Given the description of an element on the screen output the (x, y) to click on. 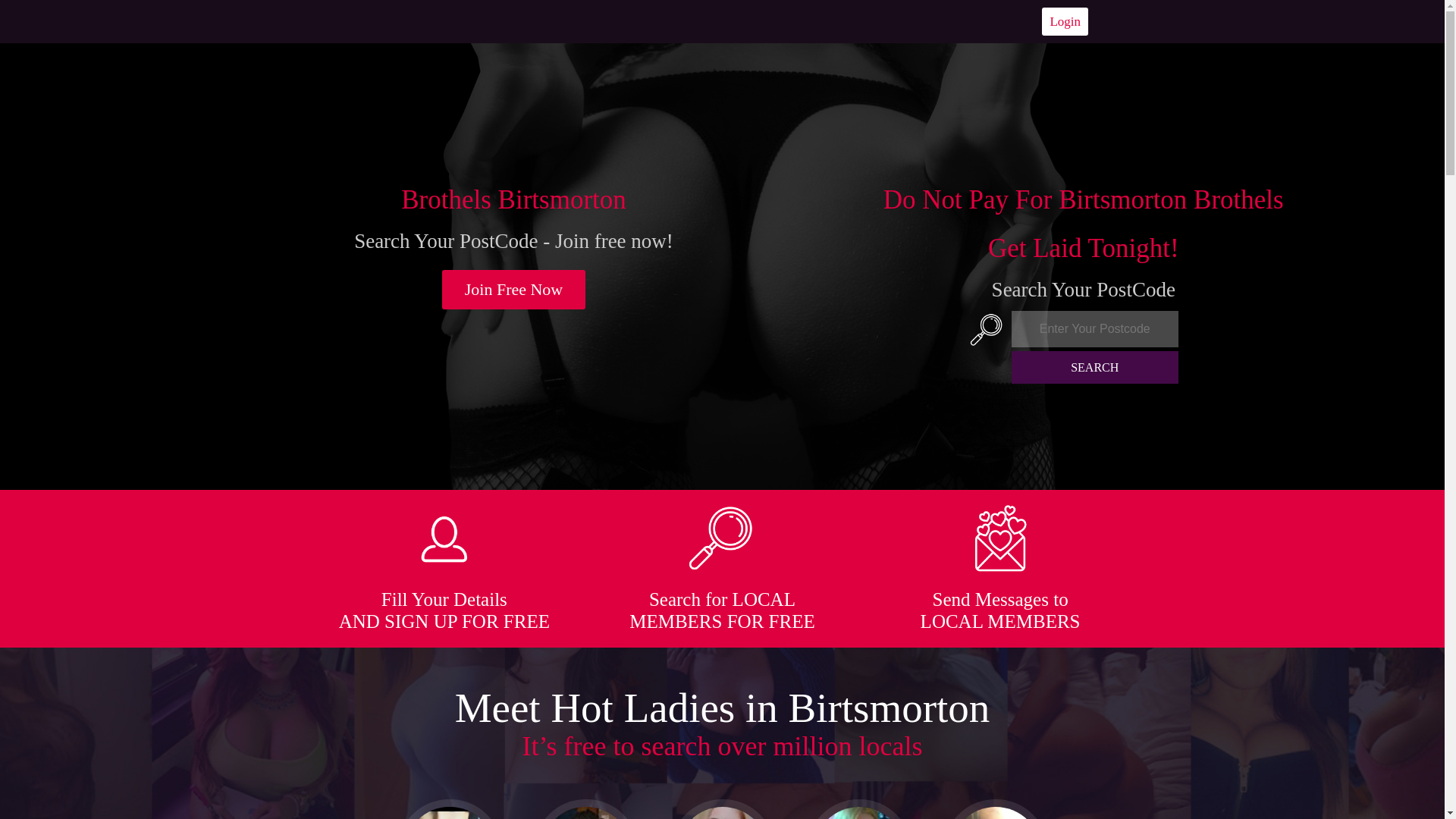
Join Free Now (514, 289)
SEARCH (1094, 367)
Login (1064, 21)
Join (514, 289)
Login (1064, 21)
